Given the description of an element on the screen output the (x, y) to click on. 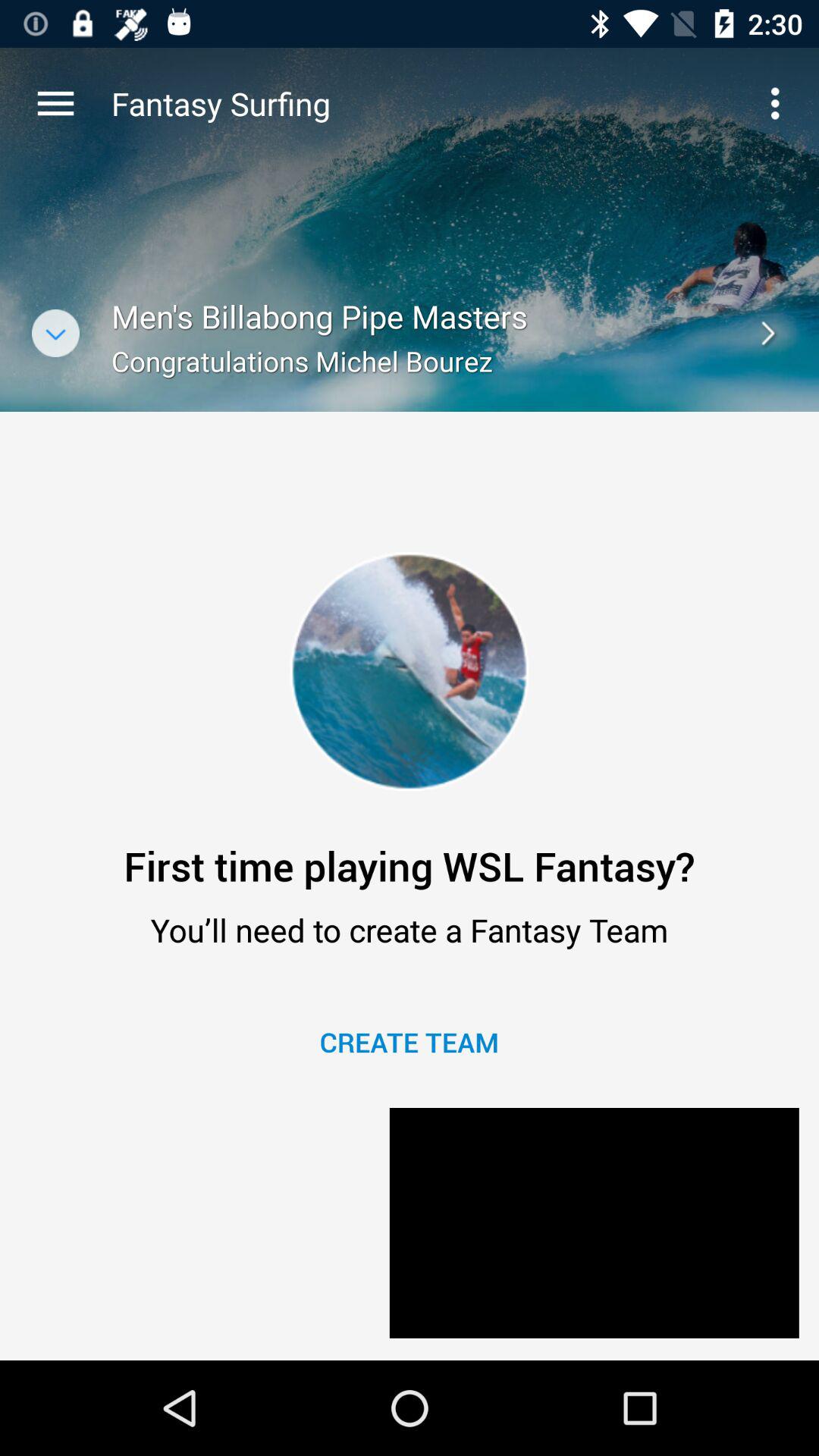
more info (55, 333)
